Given the description of an element on the screen output the (x, y) to click on. 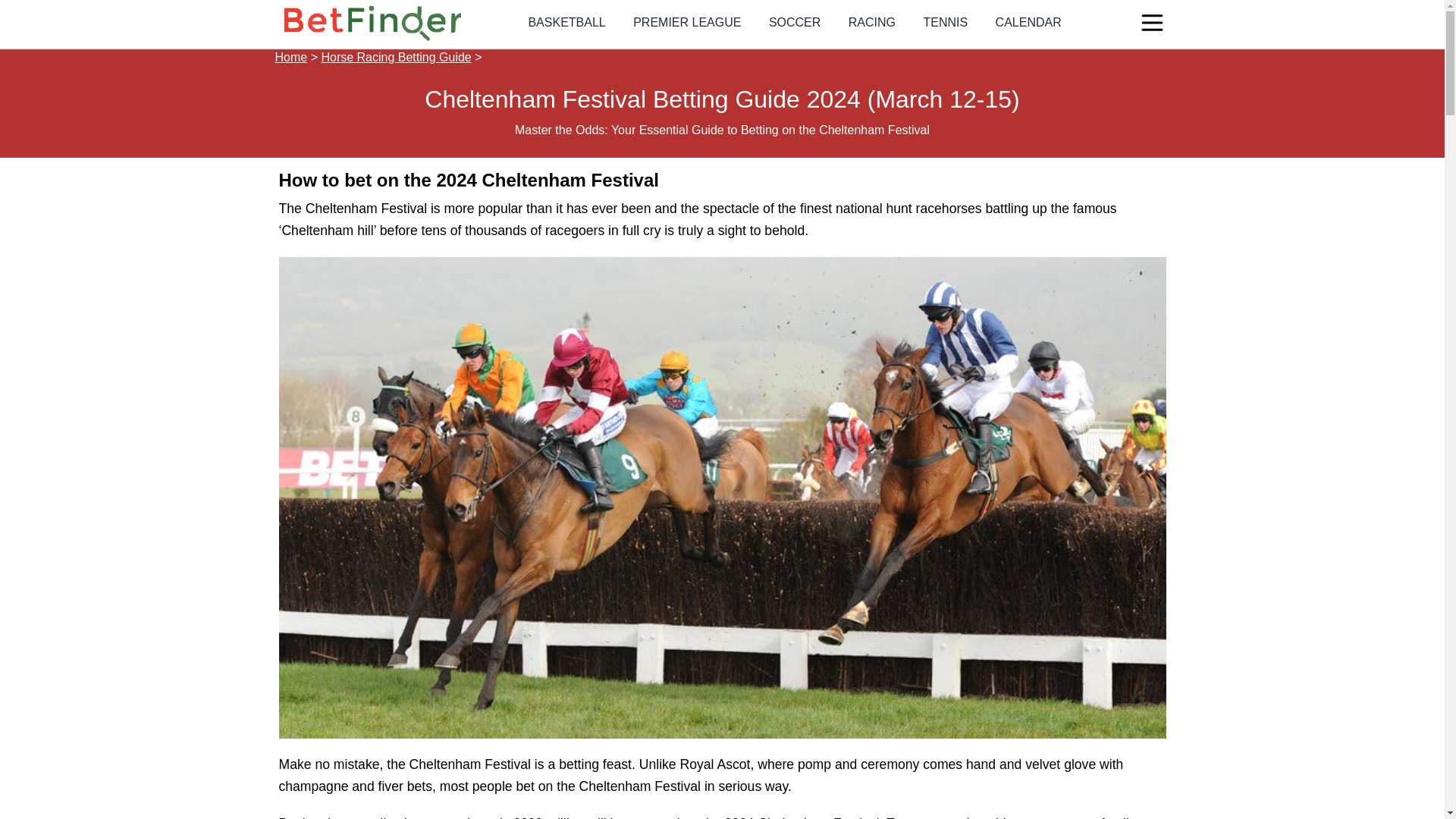
BASKETBALL (566, 21)
SOCCER (794, 21)
TENNIS (945, 21)
BetFinder (371, 22)
PREMIER LEAGUE (687, 21)
CALENDAR (1028, 21)
RACING (871, 21)
